Given the description of an element on the screen output the (x, y) to click on. 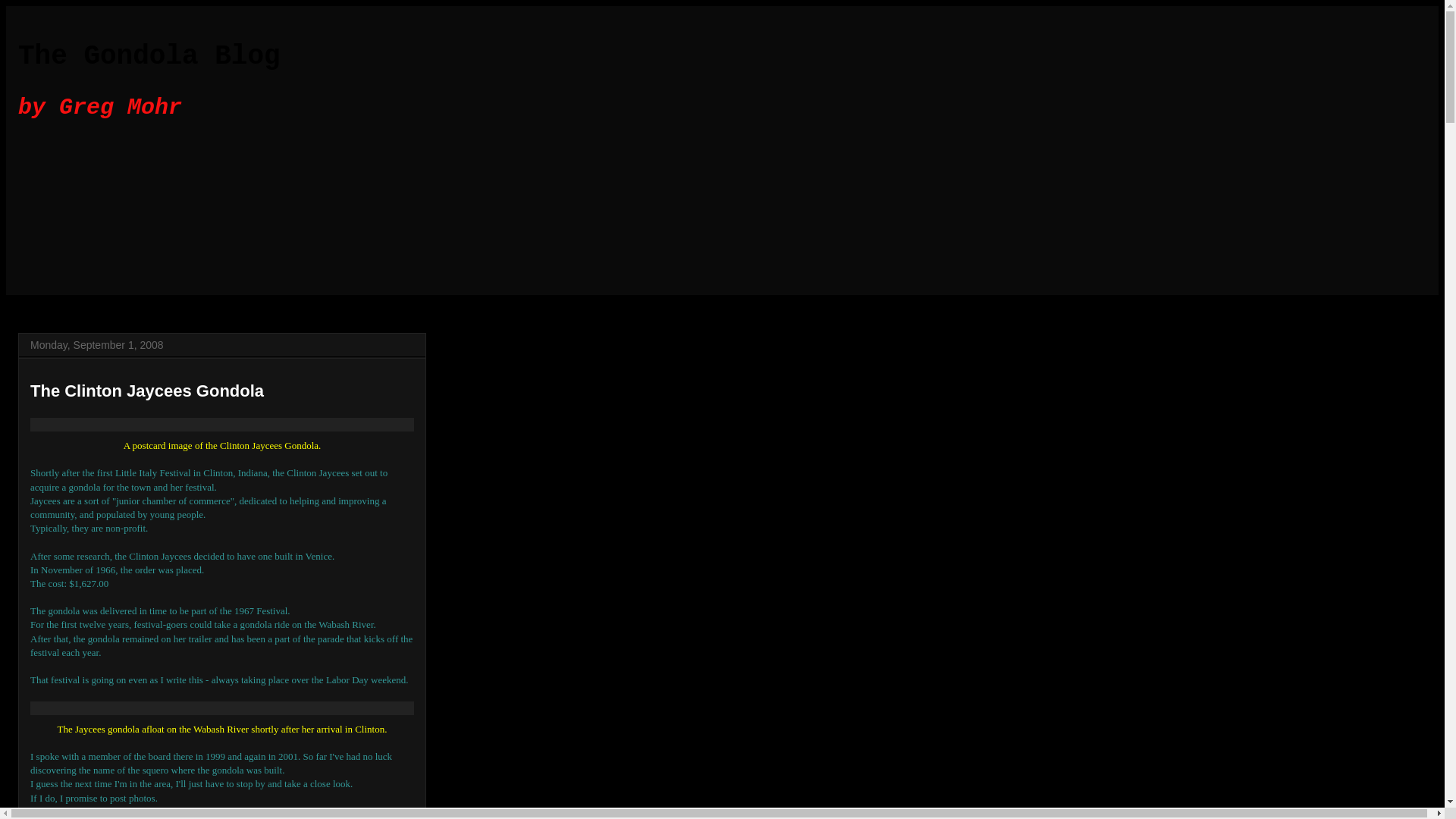
The Gondola Blog (149, 56)
